Given the description of an element on the screen output the (x, y) to click on. 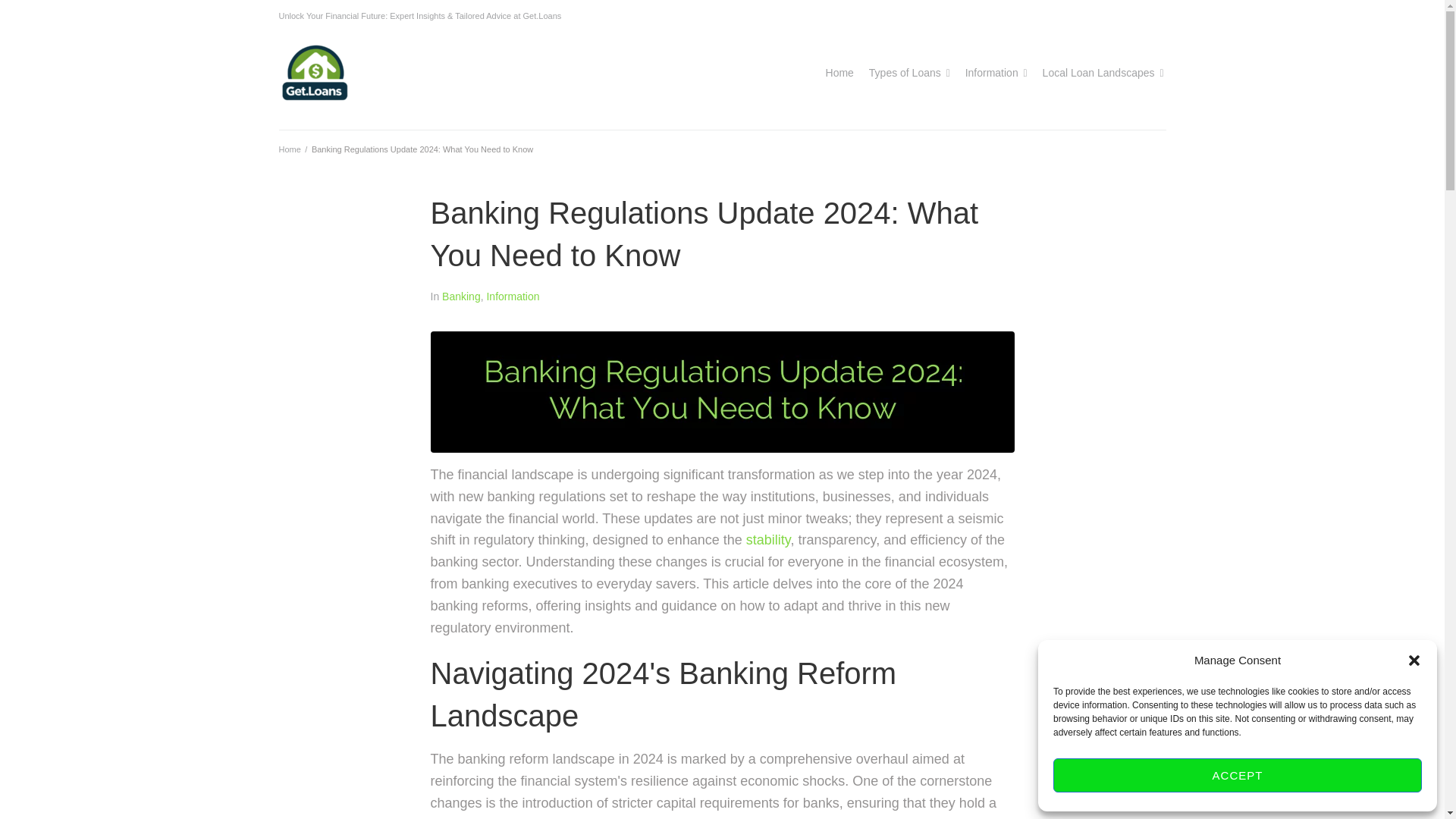
Posts tagged with stability (767, 539)
Home (290, 148)
Home (839, 73)
Information (991, 73)
ACCEPT (1237, 775)
Local Loan Landscapes (1098, 73)
Types of Loans (904, 73)
